Given the description of an element on the screen output the (x, y) to click on. 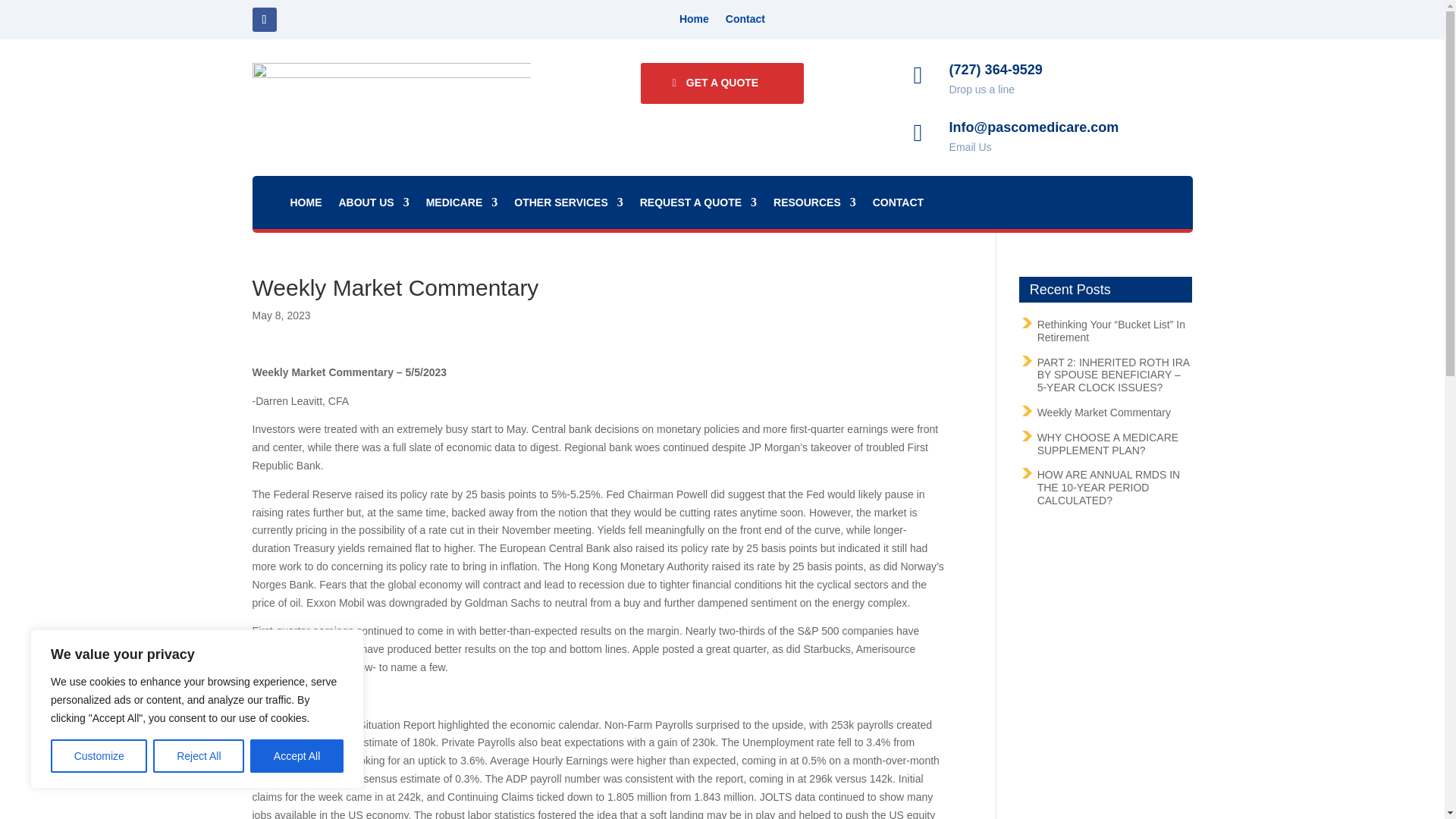
pasco-medicare-115 (391, 91)
Follow on Facebook (263, 19)
Reject All (198, 756)
Customize (98, 756)
REQUEST A QUOTE (698, 205)
HOME (305, 205)
Contact (745, 21)
ABOUT US (373, 205)
GET A QUOTE (721, 83)
Home (694, 21)
OTHER SERVICES (568, 205)
MEDICARE (461, 205)
Accept All (296, 756)
